Given the description of an element on the screen output the (x, y) to click on. 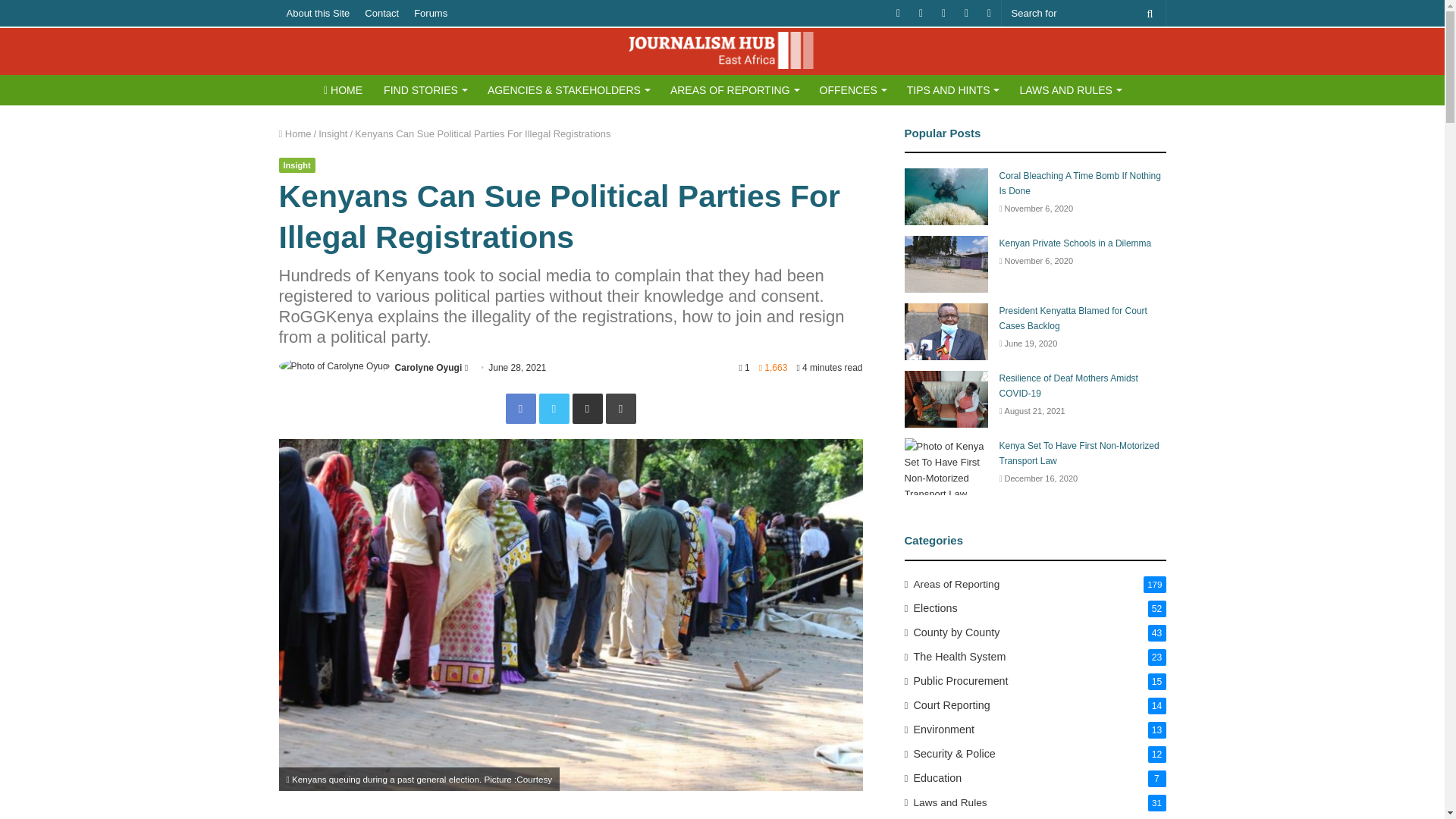
Contact (381, 13)
Home (295, 133)
Carolyne Oyugi (428, 367)
Insight (297, 165)
Twitter (553, 408)
Facebook (520, 408)
Search for (1150, 13)
OFFENCES (852, 90)
Search for (1083, 13)
Insight (332, 133)
Forums (430, 13)
About this Site (318, 13)
FIND STORIES (424, 90)
AREAS OF REPORTING (734, 90)
HOME (342, 90)
